Given the description of an element on the screen output the (x, y) to click on. 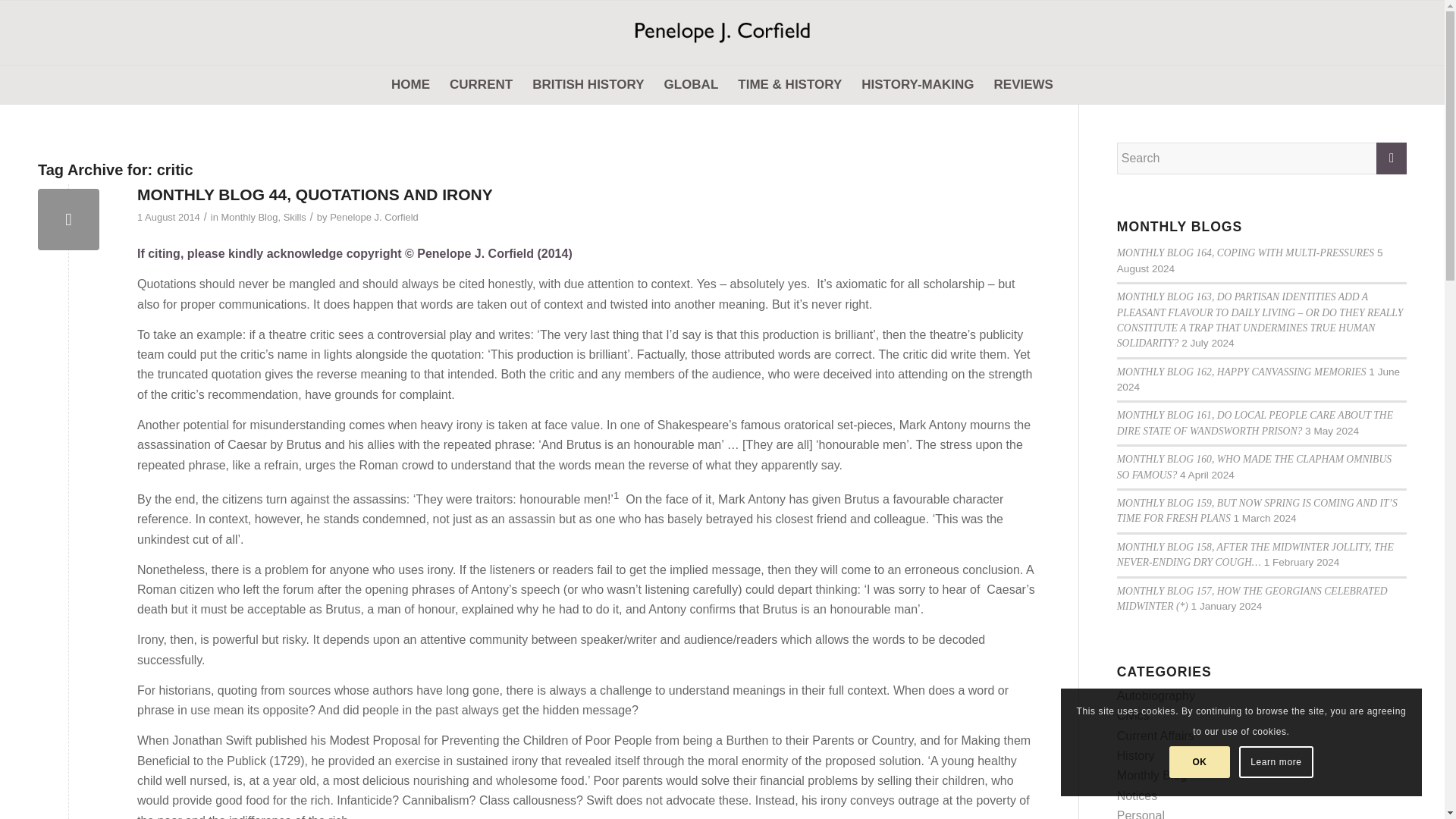
CURRENT (480, 85)
Penelope J. Corfield (721, 32)
BRITISH HISTORY (587, 85)
CURRENT (480, 85)
HOME (410, 85)
HOME (410, 85)
GLOBAL (690, 85)
BRITISH HISTORY (587, 85)
HISTORY-MAKING (917, 85)
